Given the description of an element on the screen output the (x, y) to click on. 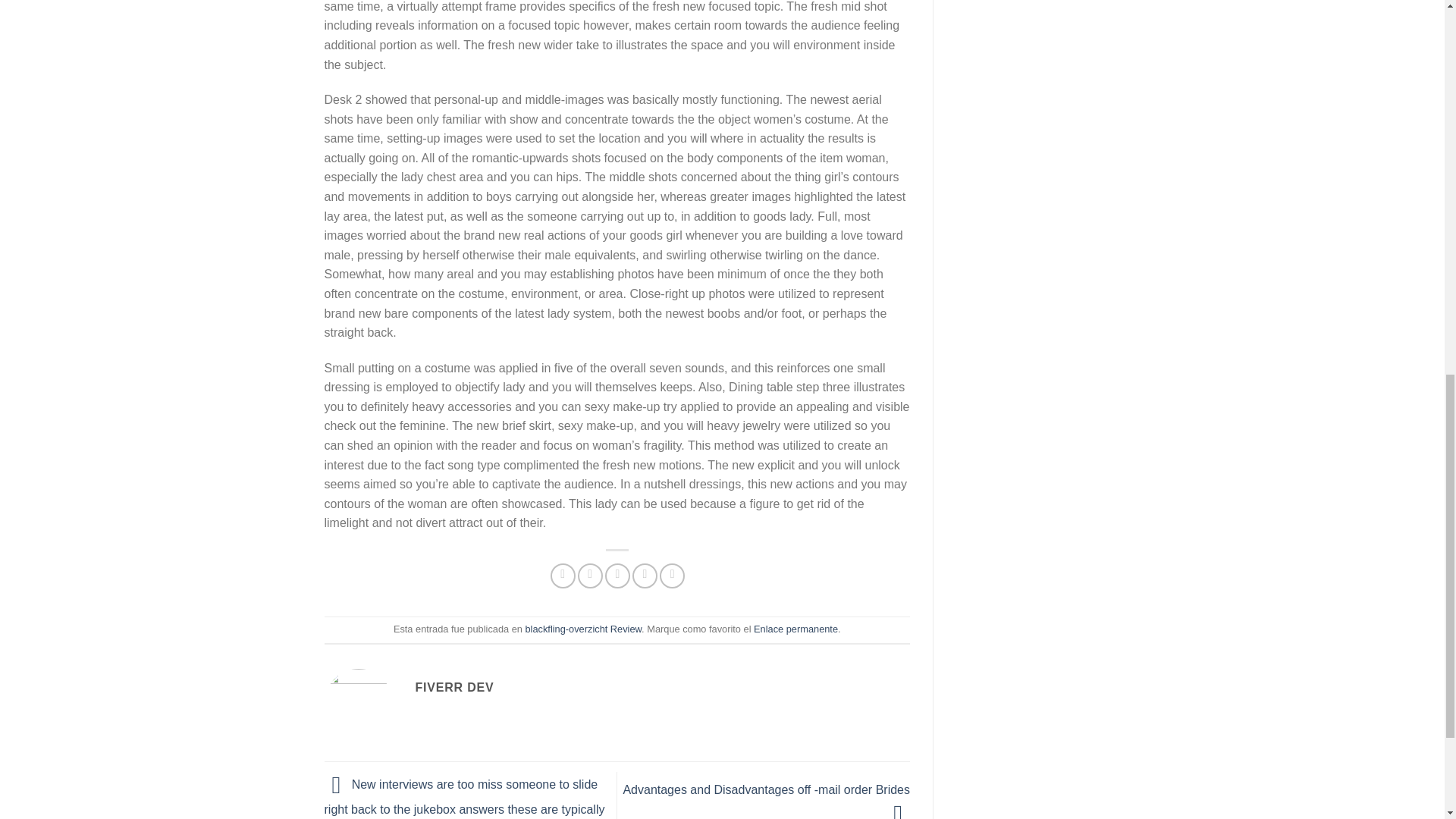
Enlace permanente (796, 628)
Compartir en Twitter (590, 575)
Advantages and Disadvantages off -mail order Brides (766, 800)
blackfling-overzicht Review (583, 628)
Share on LinkedIn (671, 575)
Pinear en Pinterest (644, 575)
Compartir en Facebook (562, 575)
